Given the description of an element on the screen output the (x, y) to click on. 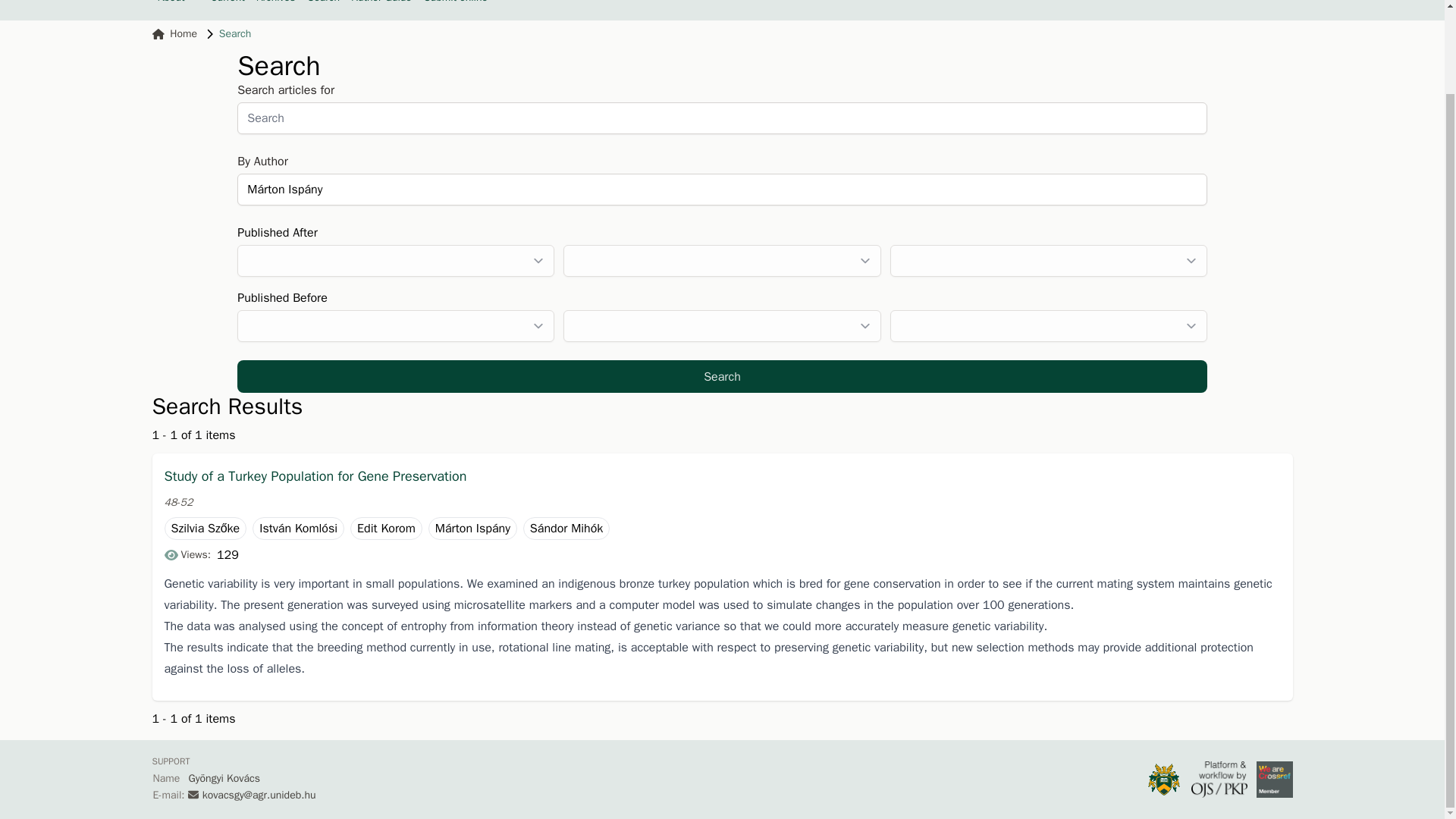
Archives (276, 2)
Author Guide (382, 2)
Submit online (455, 2)
About (177, 2)
Study of a Turkey Population for Gene Preservation (721, 476)
Current (227, 2)
Home (173, 33)
Search (722, 376)
Search (323, 2)
